Given the description of an element on the screen output the (x, y) to click on. 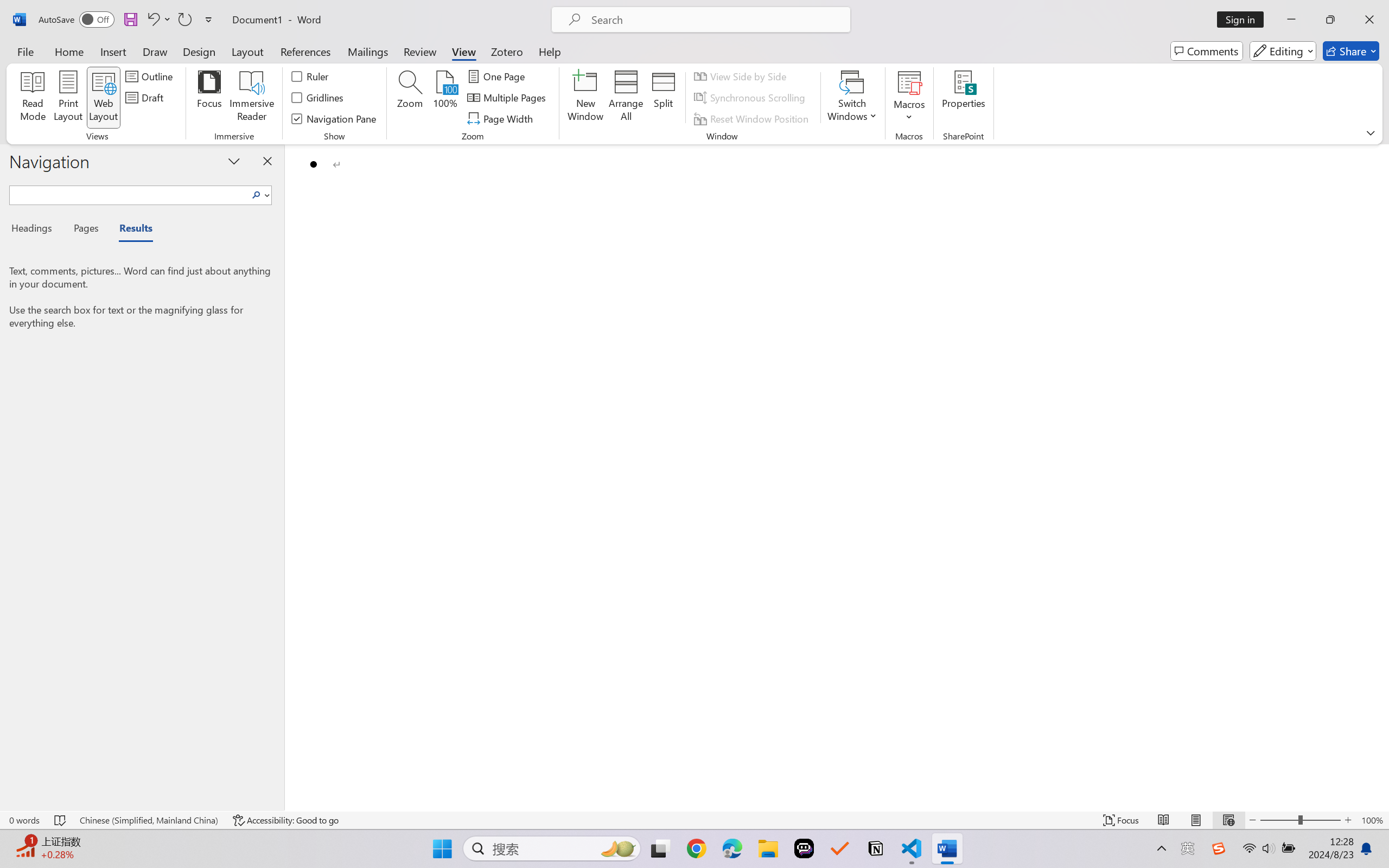
Synchronous Scrolling (751, 97)
Arrange All (625, 97)
Reset Window Position (752, 118)
Multiple Pages (507, 97)
